Given the description of an element on the screen output the (x, y) to click on. 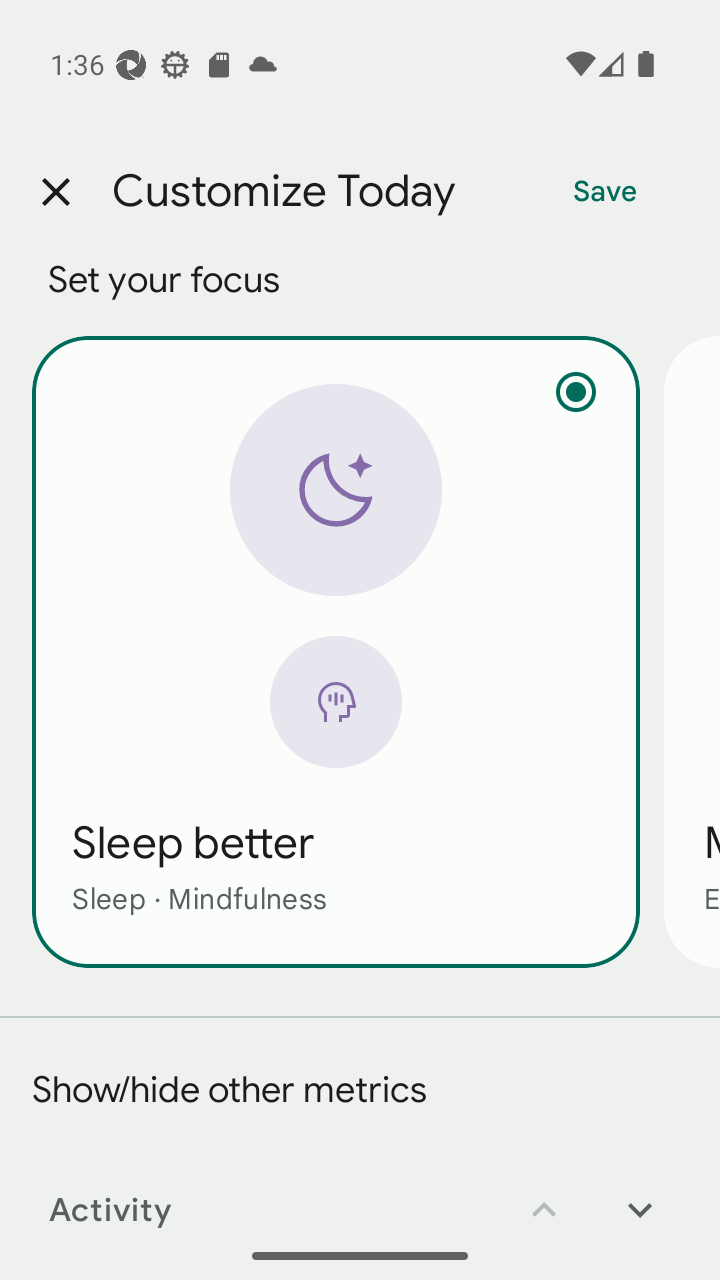
Close (55, 191)
Save (605, 191)
Sleep better Sleep · Mindfulness (335, 651)
Move Activity up (543, 1196)
Move Activity down (639, 1196)
